Given the description of an element on the screen output the (x, y) to click on. 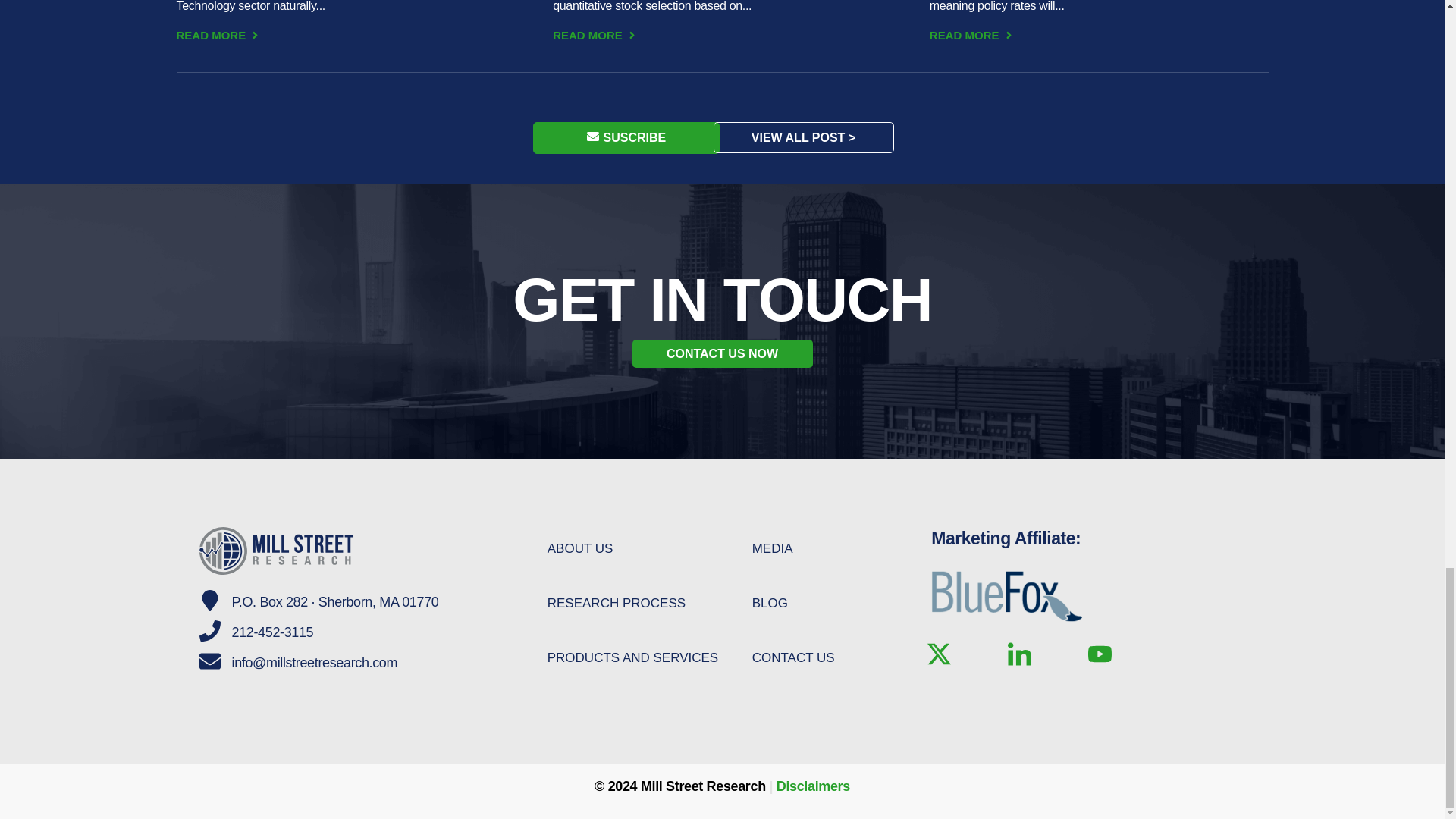
READ MORE (972, 36)
READ MORE (595, 36)
READ MORE (218, 36)
SUSCRIBE (625, 137)
